Given the description of an element on the screen output the (x, y) to click on. 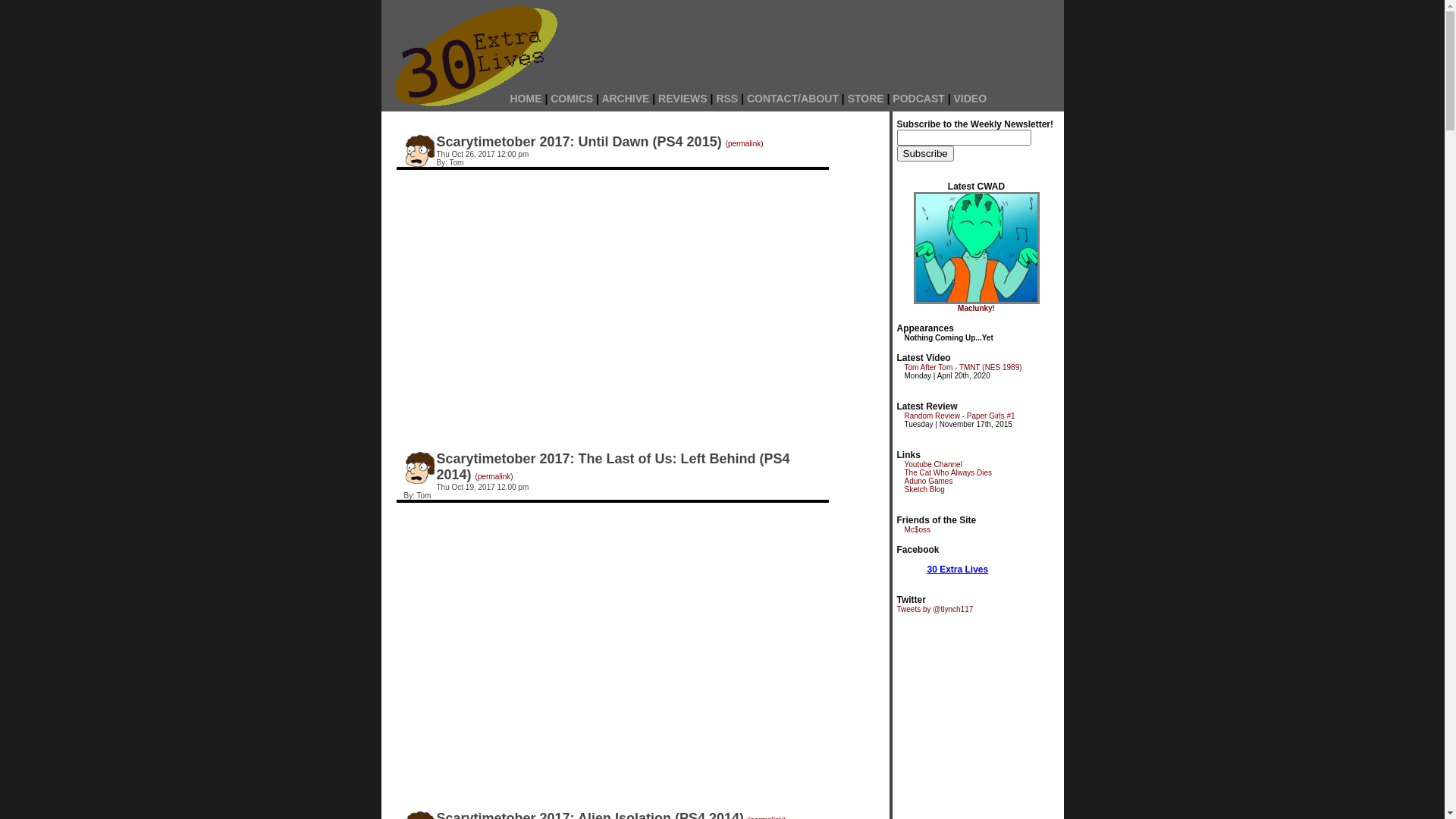
CONTACT/ABOUT Element type: text (792, 98)
ARCHIVE Element type: text (625, 98)
The Cat Who Always Dies Element type: text (947, 472)
(permalink) Element type: text (744, 143)
Sketch Blog Element type: text (923, 489)
Mc$oss Element type: text (916, 529)
Tweets by @tlynch117 Element type: text (934, 609)
Subscribe Element type: text (924, 153)
VIDEO Element type: text (970, 98)
RSS Element type: text (726, 98)
Maclunky! Element type: text (975, 308)
Tom After Tom - TMNT (NES 1989) Element type: text (962, 367)
Random Review - Paper Girls #1 Element type: text (958, 415)
Youtube Channel Element type: text (932, 464)
REVIEWS Element type: text (682, 98)
COMICS Element type: text (571, 98)
Aduno Games Element type: text (927, 480)
STORE Element type: text (865, 98)
PODCAST Element type: text (918, 98)
30 Extra Lives Element type: text (957, 569)
HOME Element type: text (525, 98)
(permalink) Element type: text (494, 476)
